Given the description of an element on the screen output the (x, y) to click on. 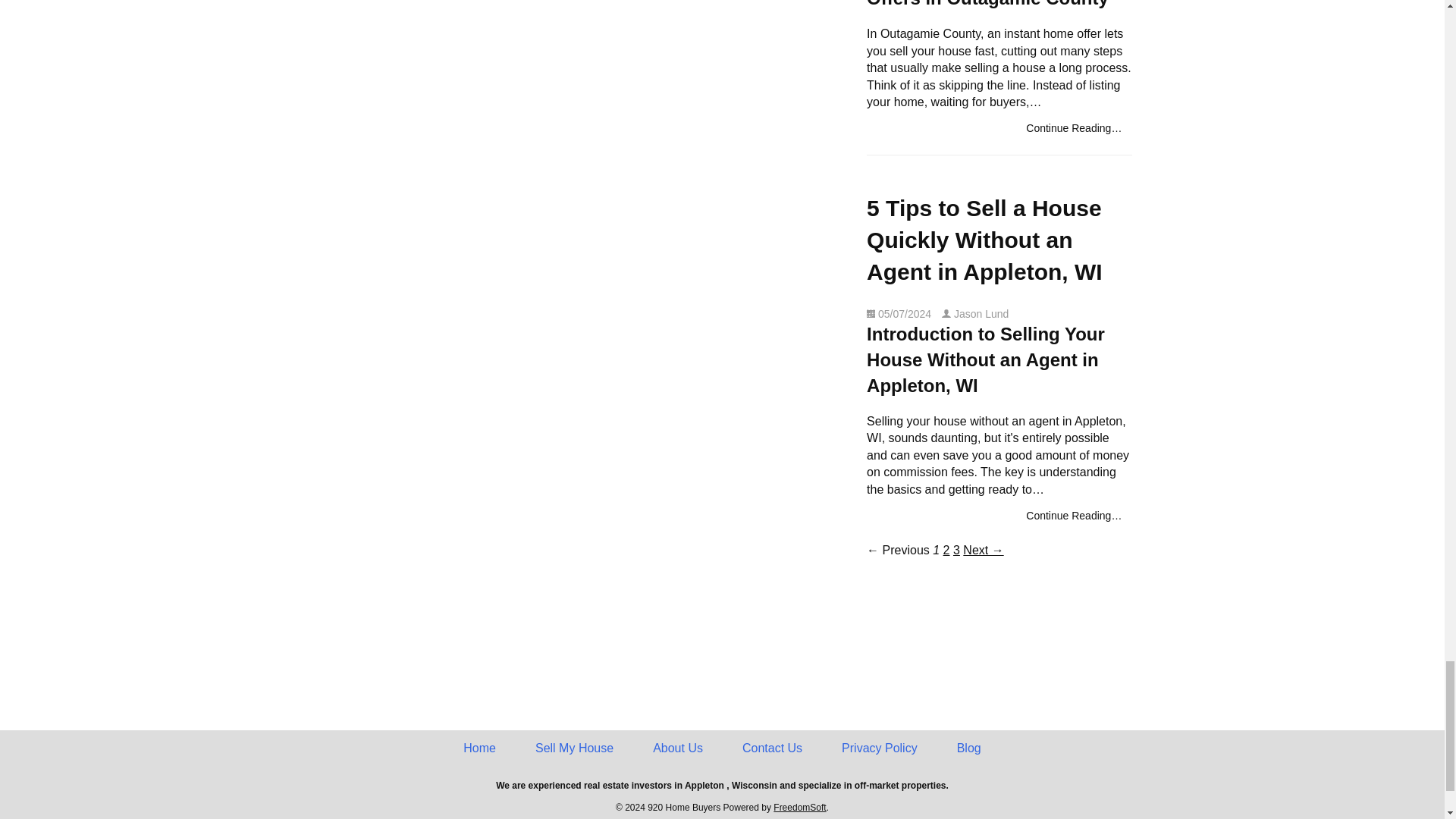
Home (479, 748)
Contact Us (772, 748)
Sell My House (574, 748)
Contact Us (772, 748)
Sell My House Step 1 (574, 748)
3 (956, 549)
About Us (677, 748)
2 (946, 549)
Faq (946, 549)
About Us (677, 748)
Blog (969, 748)
www.freedomsoft.com (799, 807)
Privacy Policy (879, 748)
920 Home Buyers (479, 748)
